Given the description of an element on the screen output the (x, y) to click on. 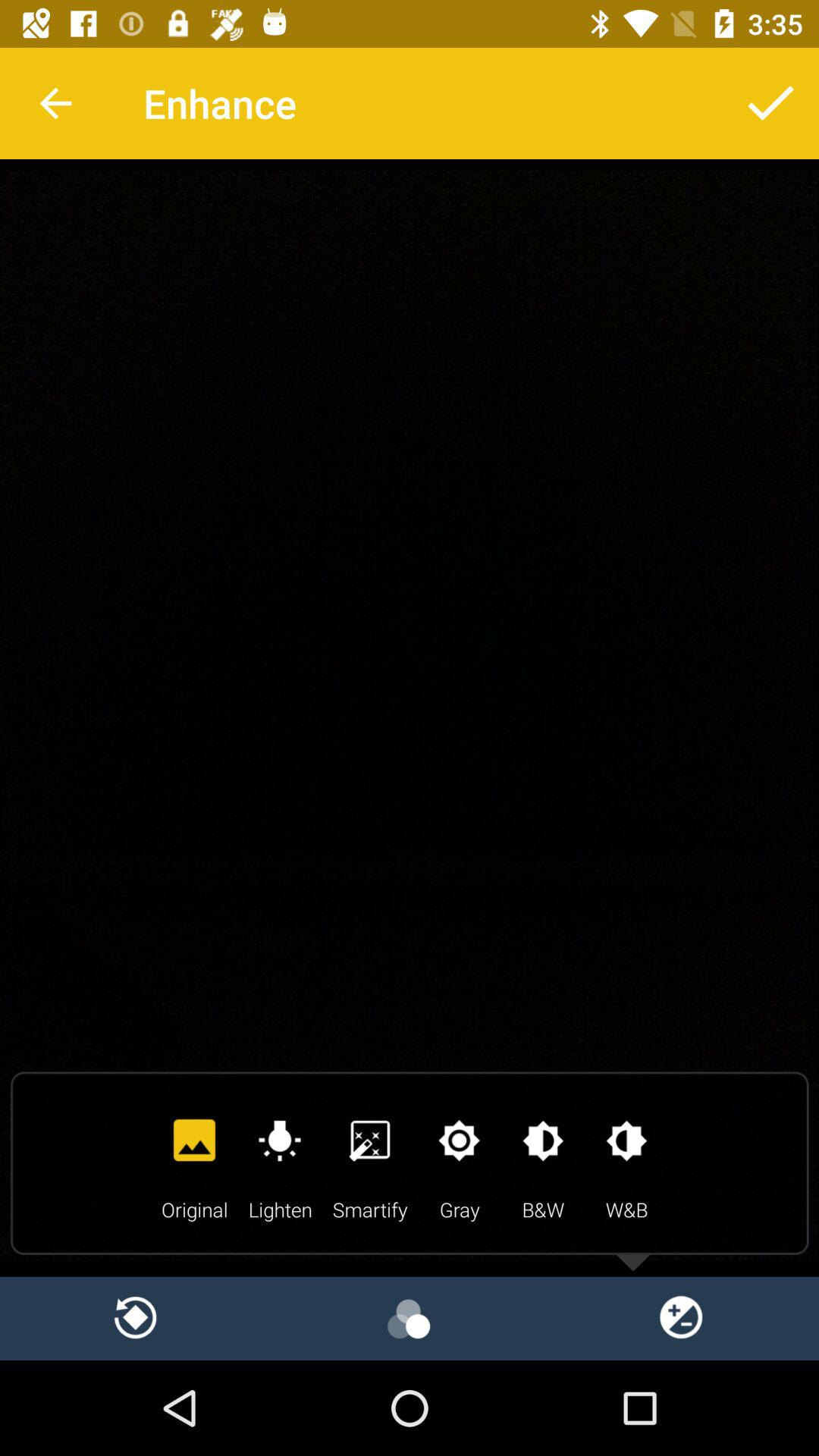
refresh (136, 1318)
